Given the description of an element on the screen output the (x, y) to click on. 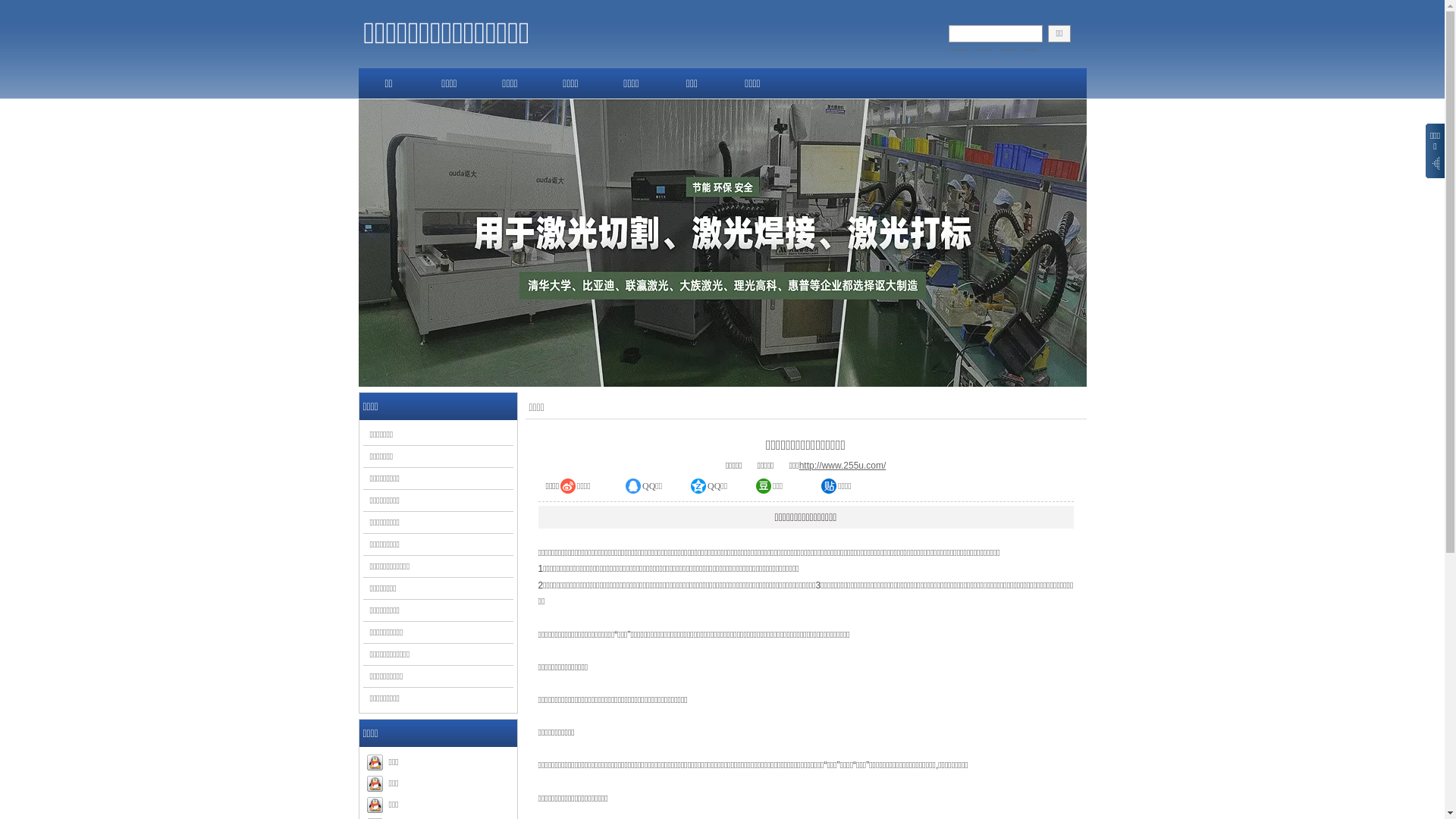
http://www.255u.com/ Element type: text (842, 465)
